Given the description of an element on the screen output the (x, y) to click on. 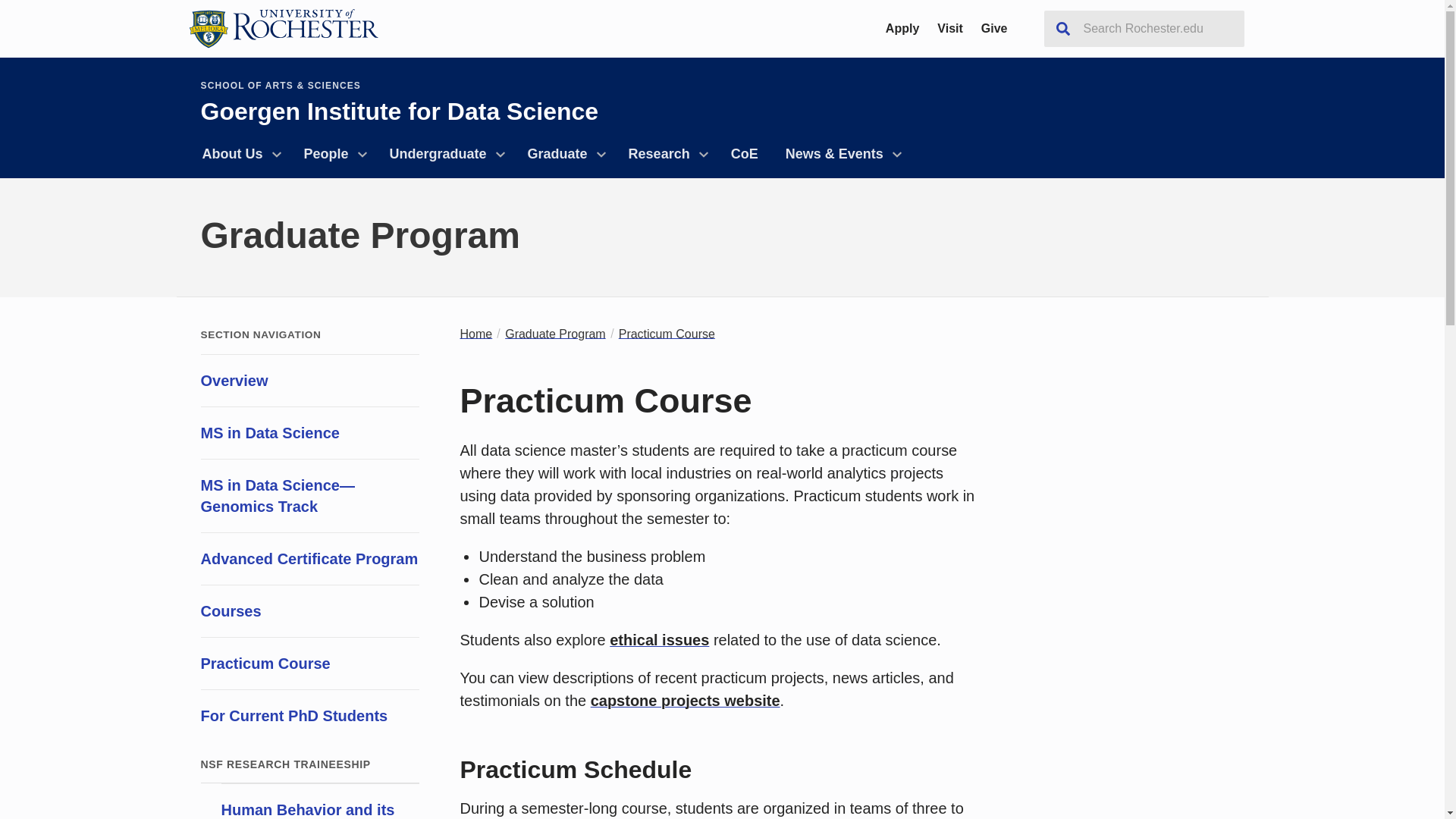
Goergen Institute for Data Science (399, 111)
University of Rochester (282, 28)
Undergraduate (444, 154)
Search (1062, 28)
People (332, 154)
About Us (238, 154)
